Given the description of an element on the screen output the (x, y) to click on. 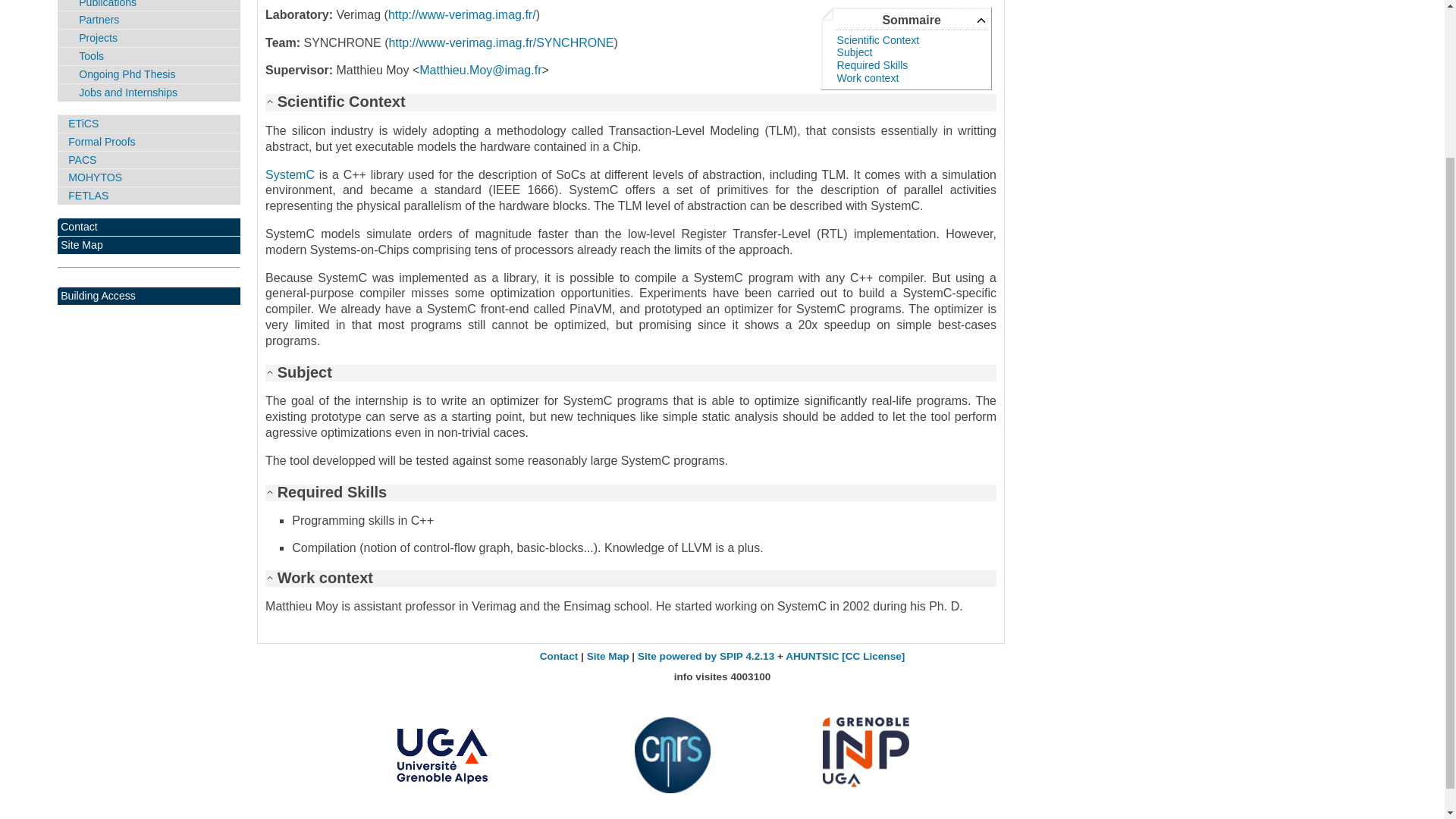
Subject (854, 51)
FETLAS (149, 195)
Jobs and Internships (149, 92)
Projects (149, 37)
Tools (149, 56)
Required Skills (872, 64)
ETiCS (149, 123)
Ongoing Phd Thesis (149, 74)
Scientific Context (878, 39)
Required Skills (872, 64)
Building Access (149, 295)
Scientific Context (878, 39)
Formal Proofs (149, 141)
Proofs and Code Analyses for Security (149, 159)
Publications (149, 5)
